Given the description of an element on the screen output the (x, y) to click on. 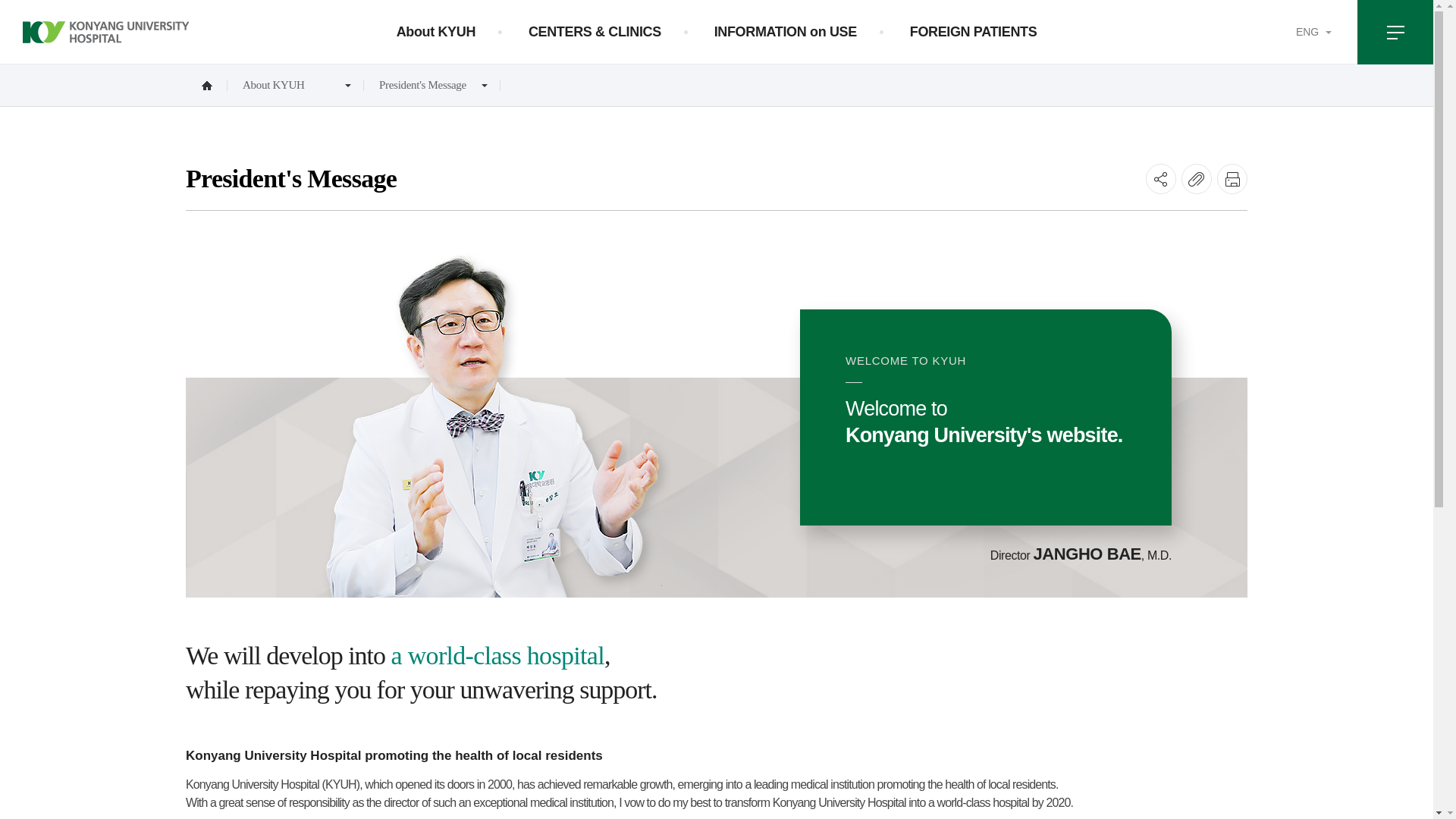
FOREIGN PATIENTS (973, 32)
About KYUH (435, 32)
INFORMATION on USE (785, 32)
